Given the description of an element on the screen output the (x, y) to click on. 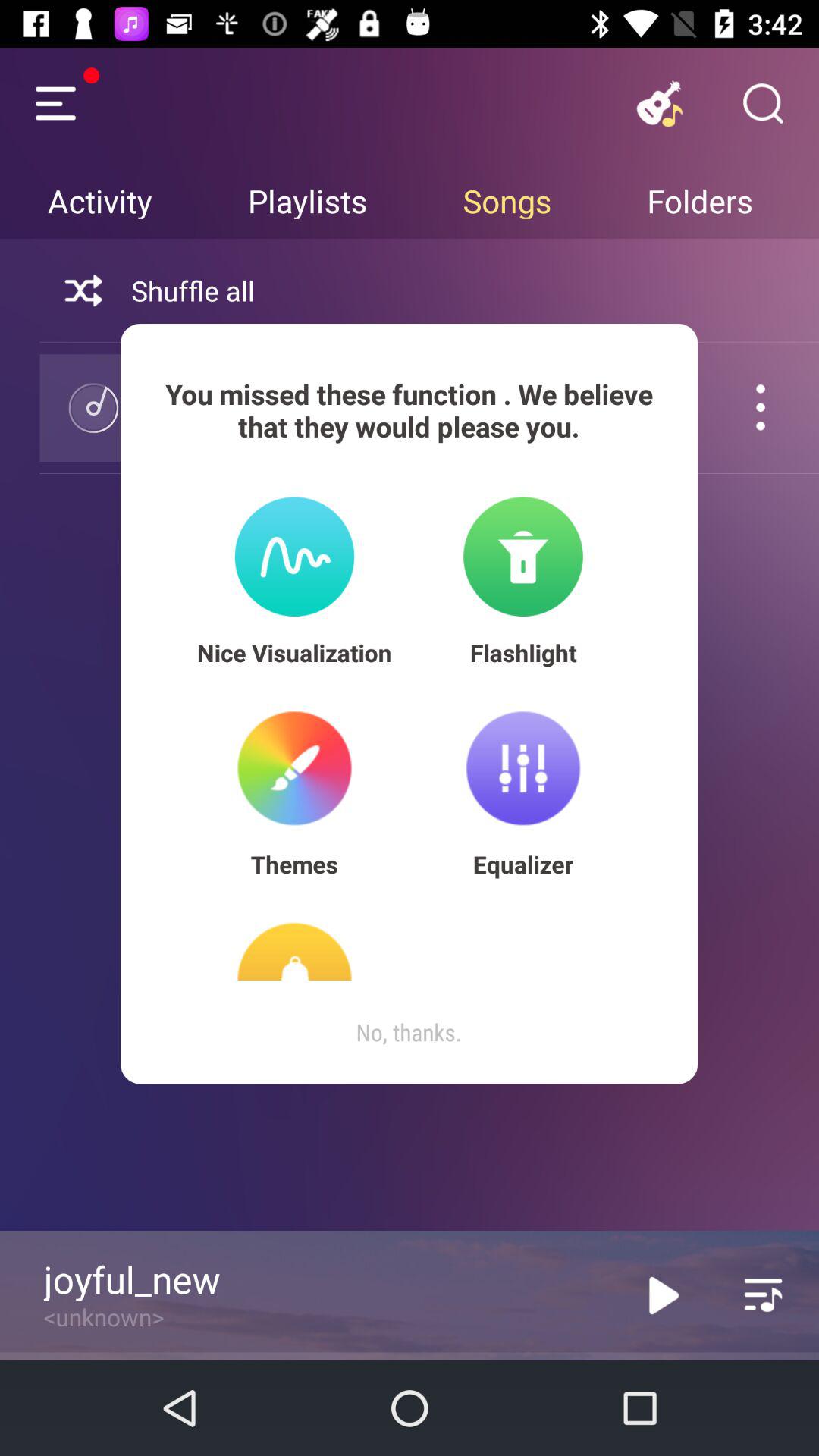
click item to the right of the nice visualization app (523, 652)
